Given the description of an element on the screen output the (x, y) to click on. 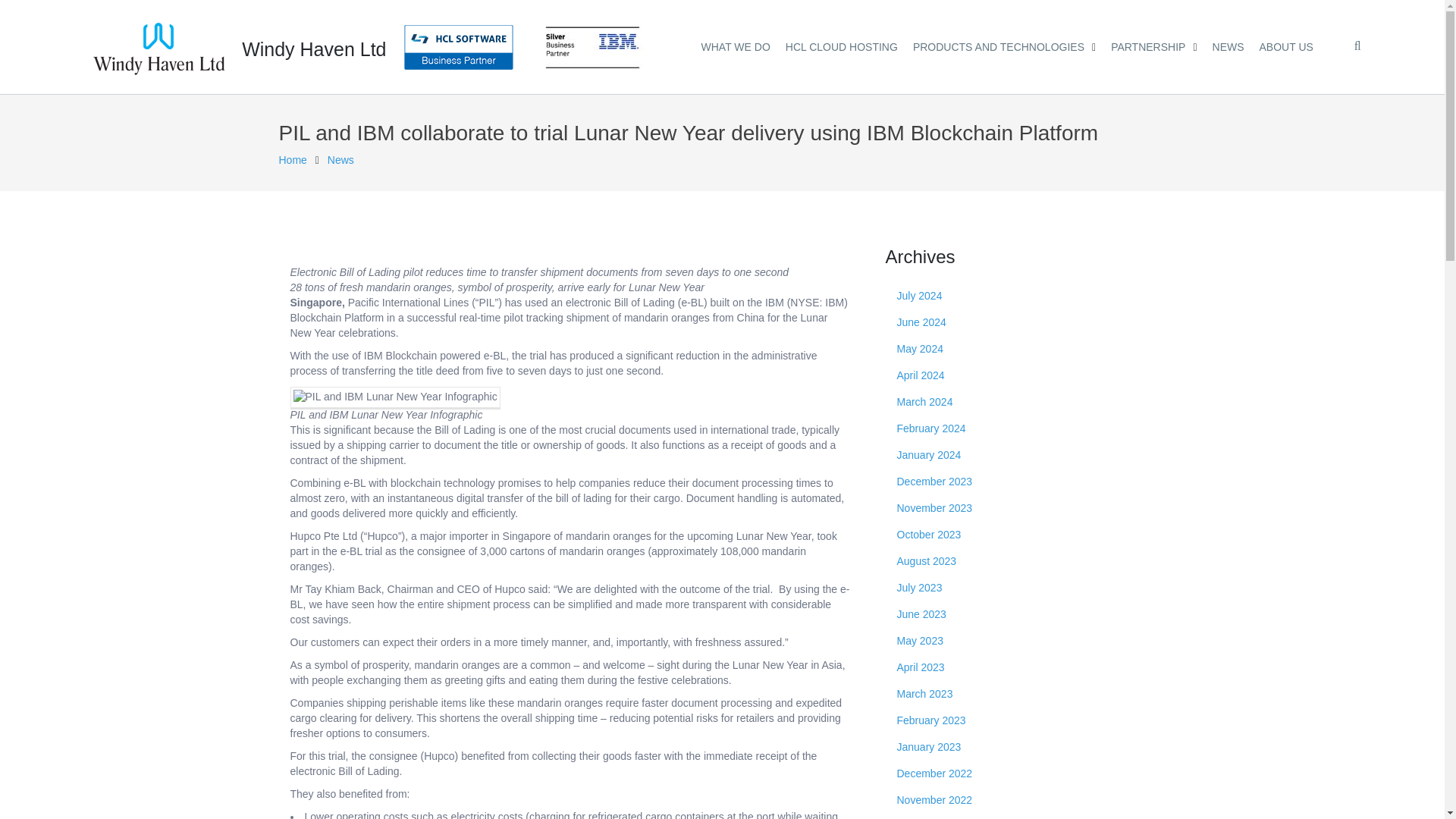
PIL and IBM Lunar New Year Infographic (394, 396)
PRODUCTS AND TECHNOLOGIES (1004, 44)
Windy Haven Ltd (314, 46)
HCL CLOUD HOSTING (842, 44)
Windy Haven Ltd (314, 46)
PARTNERSHIP (1153, 44)
Windy Haven Ltd (293, 159)
News (340, 159)
Home (293, 159)
